Given the description of an element on the screen output the (x, y) to click on. 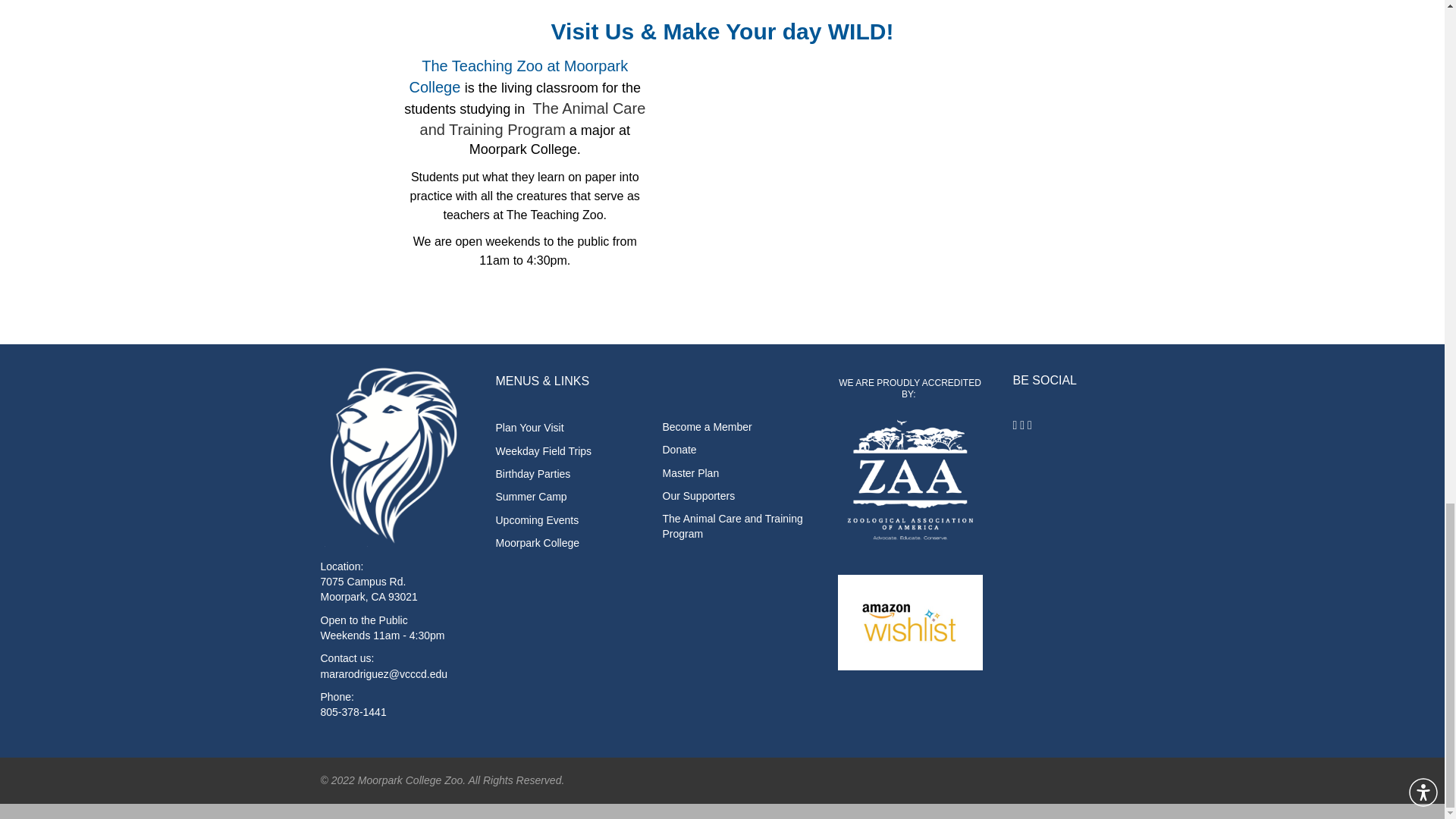
Become a Member (707, 426)
Plan Your Visit (530, 427)
Upcoming Events (537, 519)
Moorpark College (537, 542)
The Animal Care and Training Program (533, 119)
amazon wishlist (909, 622)
YouTube video player (861, 163)
Summer Camp (531, 496)
Birthday Parties (533, 473)
Weekday Field Trips (544, 451)
